Given the description of an element on the screen output the (x, y) to click on. 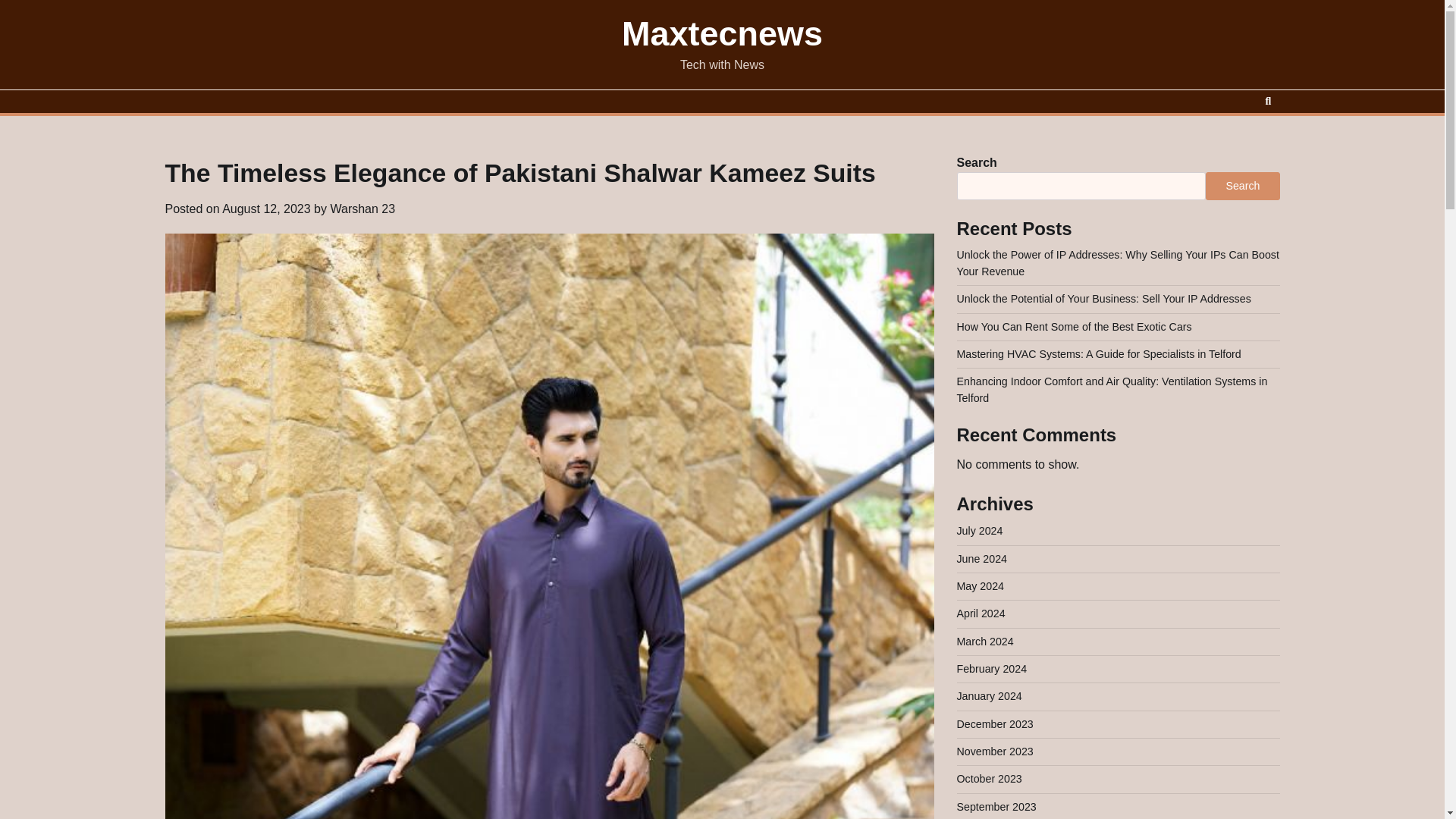
August 12, 2023 (266, 208)
Maxtecnews (721, 33)
July 2024 (979, 530)
March 2024 (984, 641)
June 2024 (981, 558)
Search (1242, 185)
Warshan 23 (362, 208)
May 2024 (980, 585)
How You Can Rent Some of the Best Exotic Cars (1074, 326)
April 2024 (981, 613)
Search (1268, 101)
Mastering HVAC Systems: A Guide for Specialists in Telford (1098, 354)
